Given the description of an element on the screen output the (x, y) to click on. 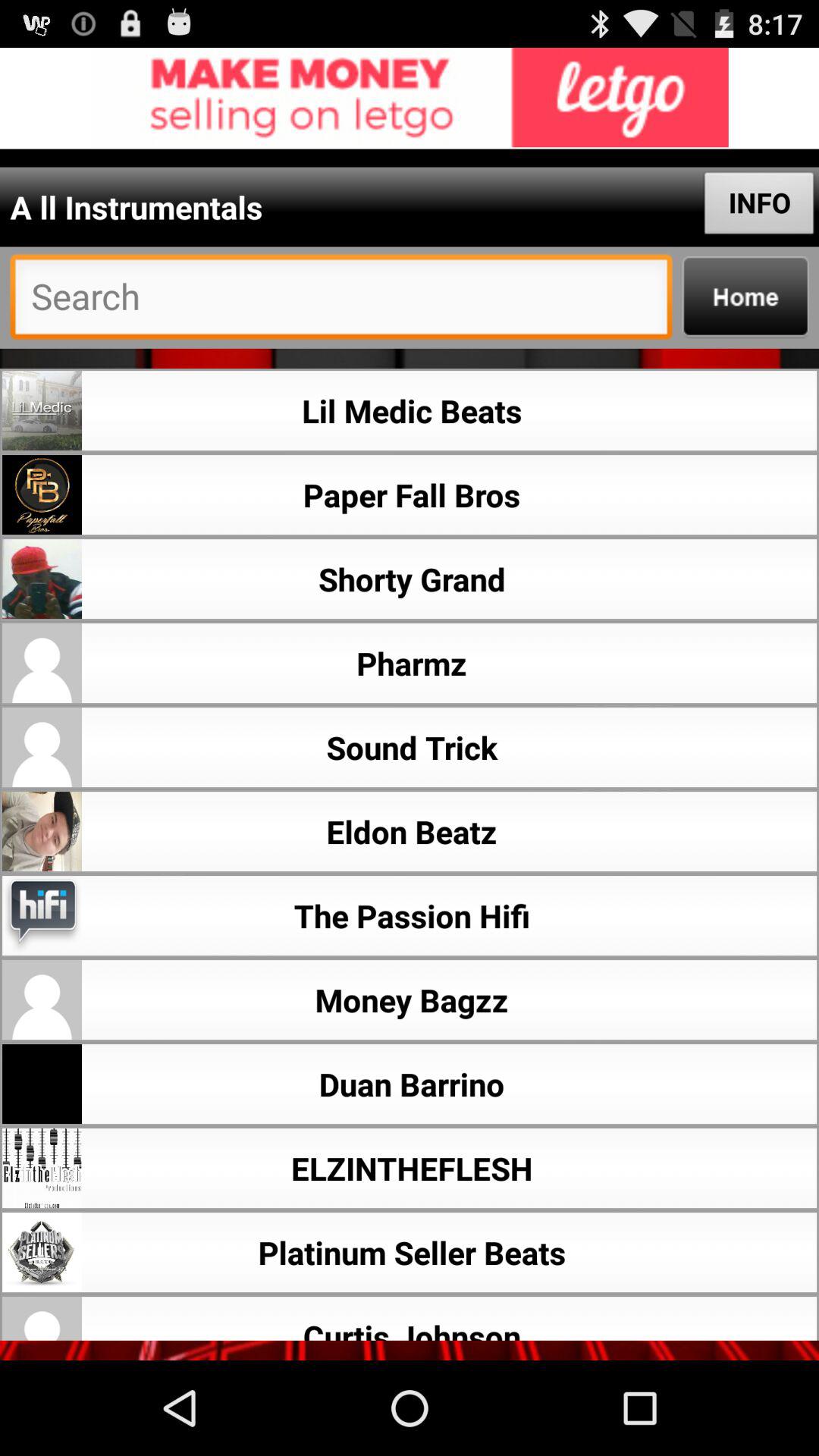
go to search (341, 300)
